Given the description of an element on the screen output the (x, y) to click on. 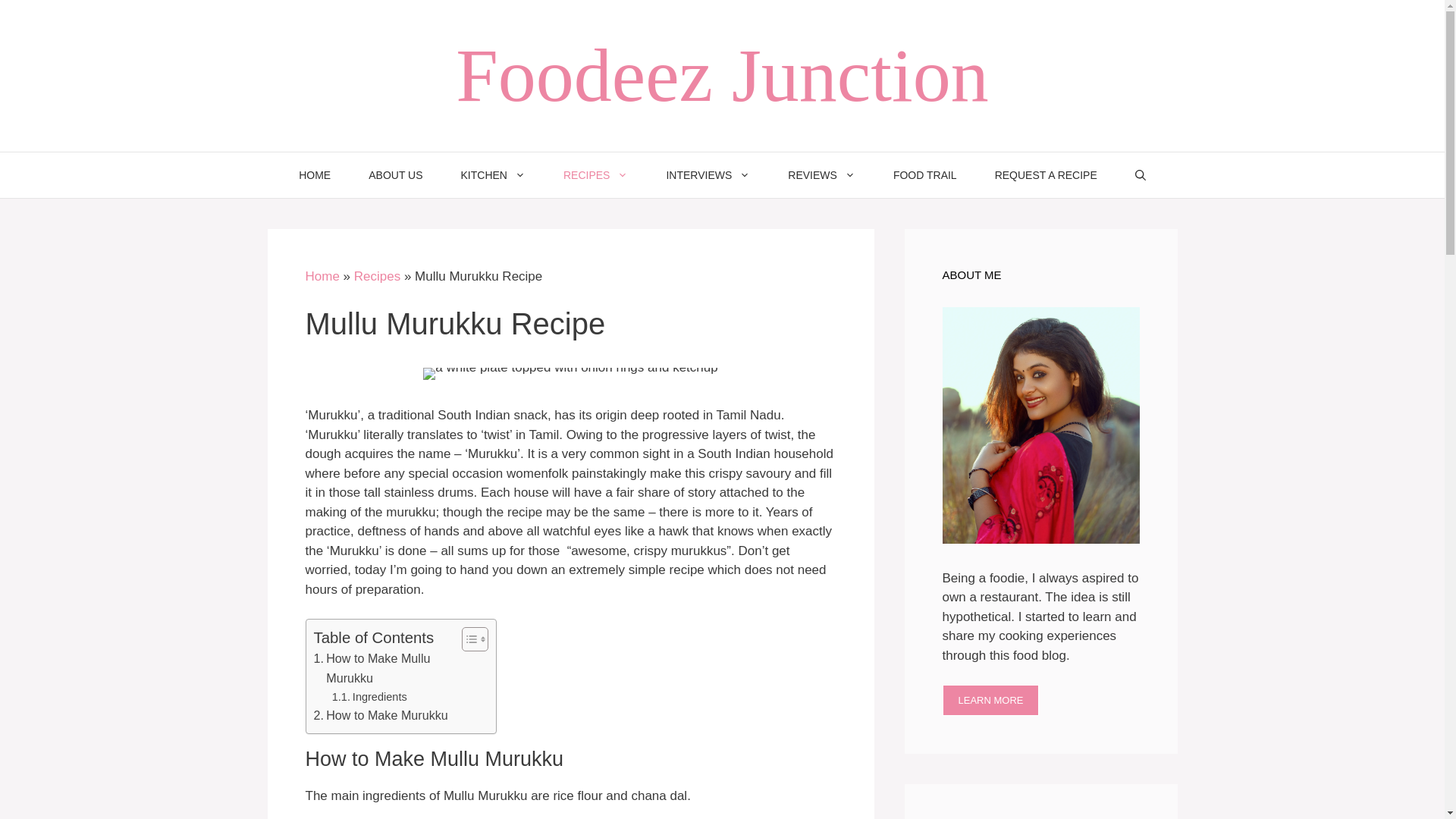
How to Make Murukku (381, 715)
How to Make Murukku (381, 715)
LEARN MORE (990, 700)
Foodeez Junction (721, 75)
How to Make Mullu Murukku (384, 668)
INTERVIEWS (707, 175)
Home (321, 276)
How to Make Mullu Murukku (384, 668)
Recipes (376, 276)
Ingredients (369, 696)
REVIEWS (821, 175)
ABOUT US (395, 175)
KITCHEN (493, 175)
Ingredients (369, 696)
HOME (314, 175)
